Given the description of an element on the screen output the (x, y) to click on. 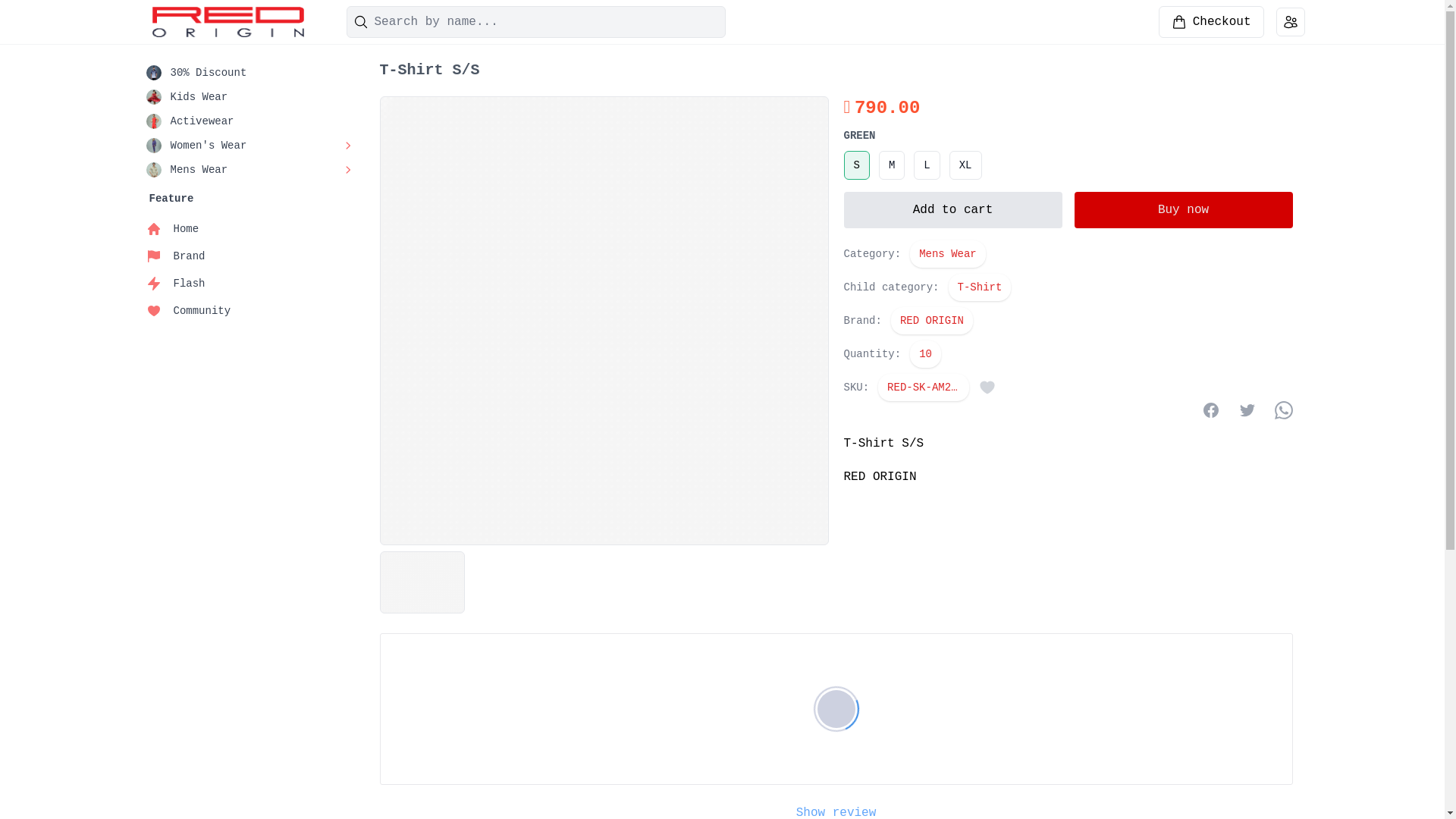
Checkout Element type: text (1211, 21)
whatsapp Element type: text (1283, 410)
Mens Wear Element type: text (947, 253)
Buy now Element type: text (1182, 209)
RED ORIGIN Element type: text (931, 320)
Community Element type: text (253, 310)
facebook Element type: text (1210, 410)
T-Shirt Element type: text (979, 287)
Add to cart Element type: text (952, 209)
twitter Element type: text (1246, 410)
